Given the description of an element on the screen output the (x, y) to click on. 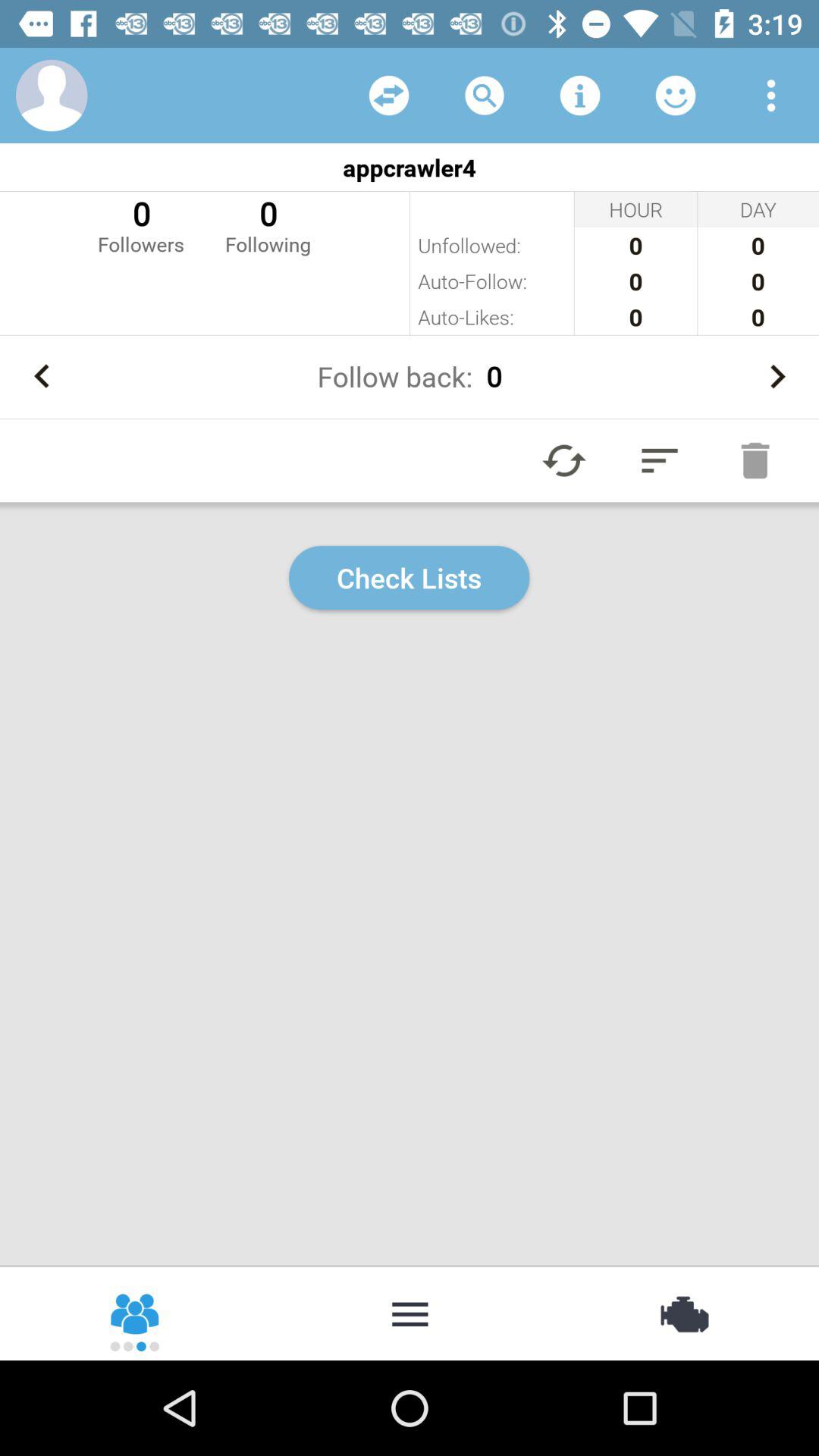
your profile (51, 95)
